Given the description of an element on the screen output the (x, y) to click on. 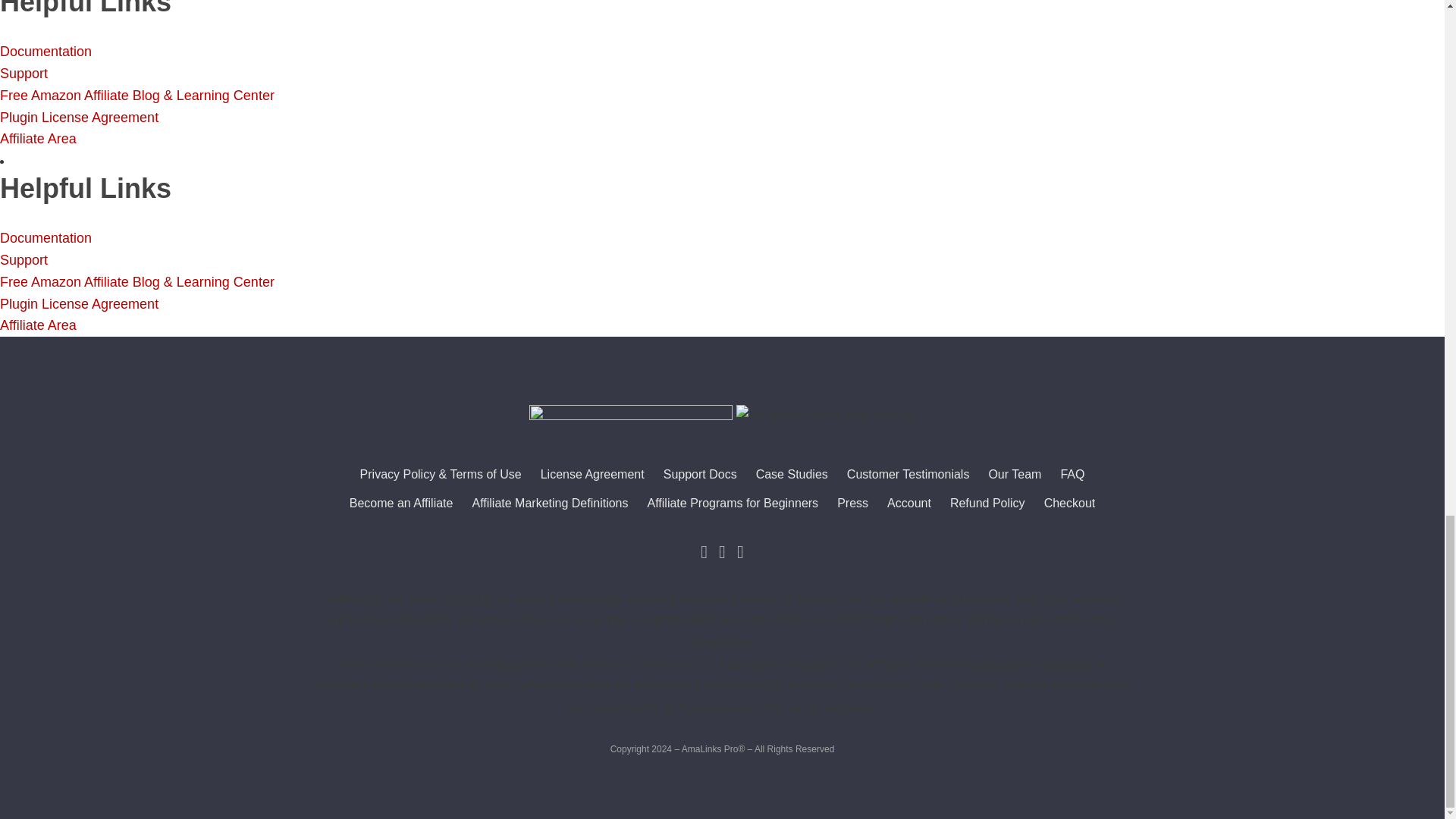
Documentation (45, 51)
Documentation (45, 237)
Affiliate Area (38, 138)
Support (24, 73)
Support (24, 259)
Plugin License Agreement (79, 117)
